Given the description of an element on the screen output the (x, y) to click on. 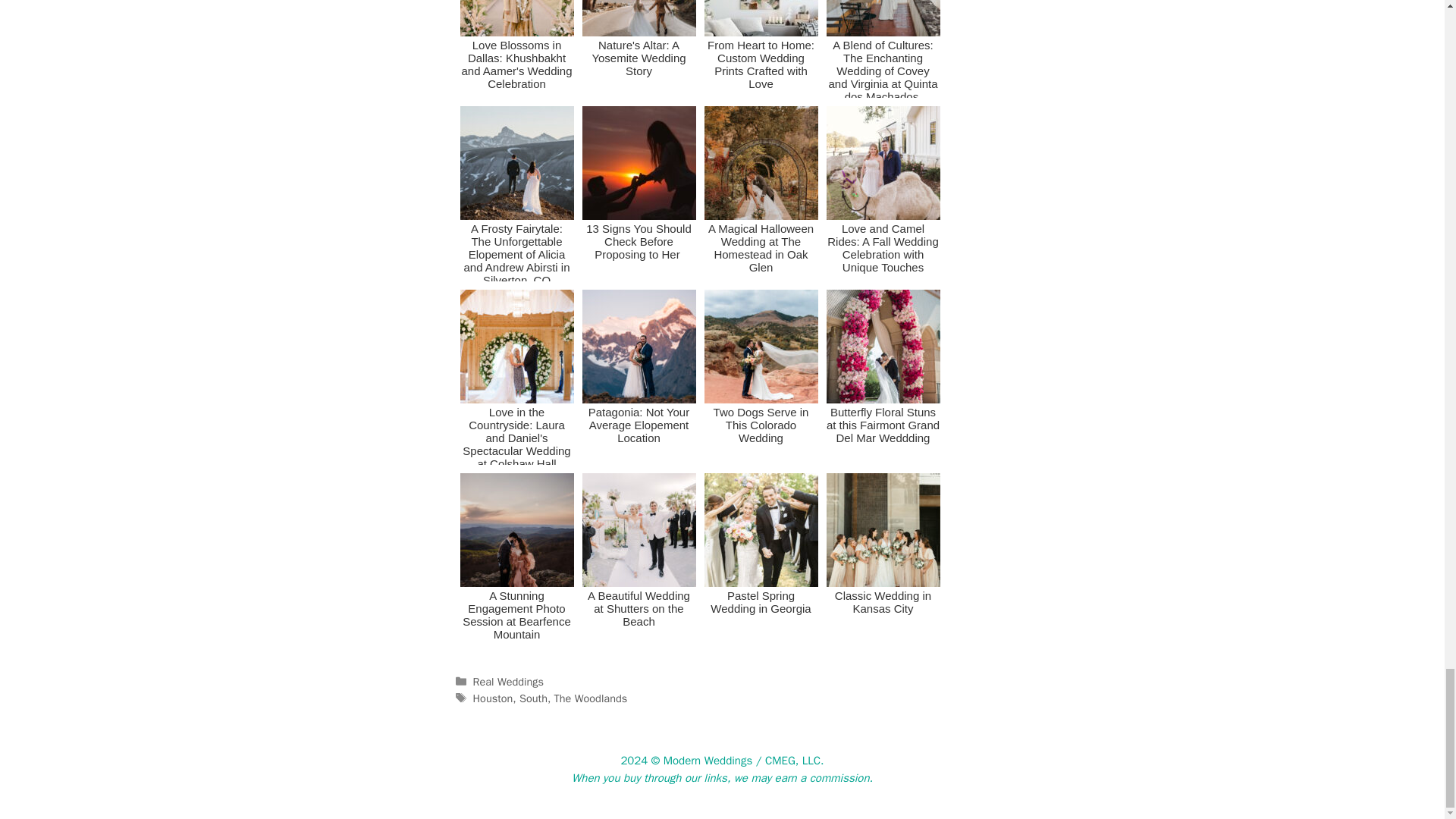
Nature's Altar: A Yosemite Wedding Story (639, 48)
From Heart to Home: Custom Wedding Prints Crafted with Love (760, 48)
